Given the description of an element on the screen output the (x, y) to click on. 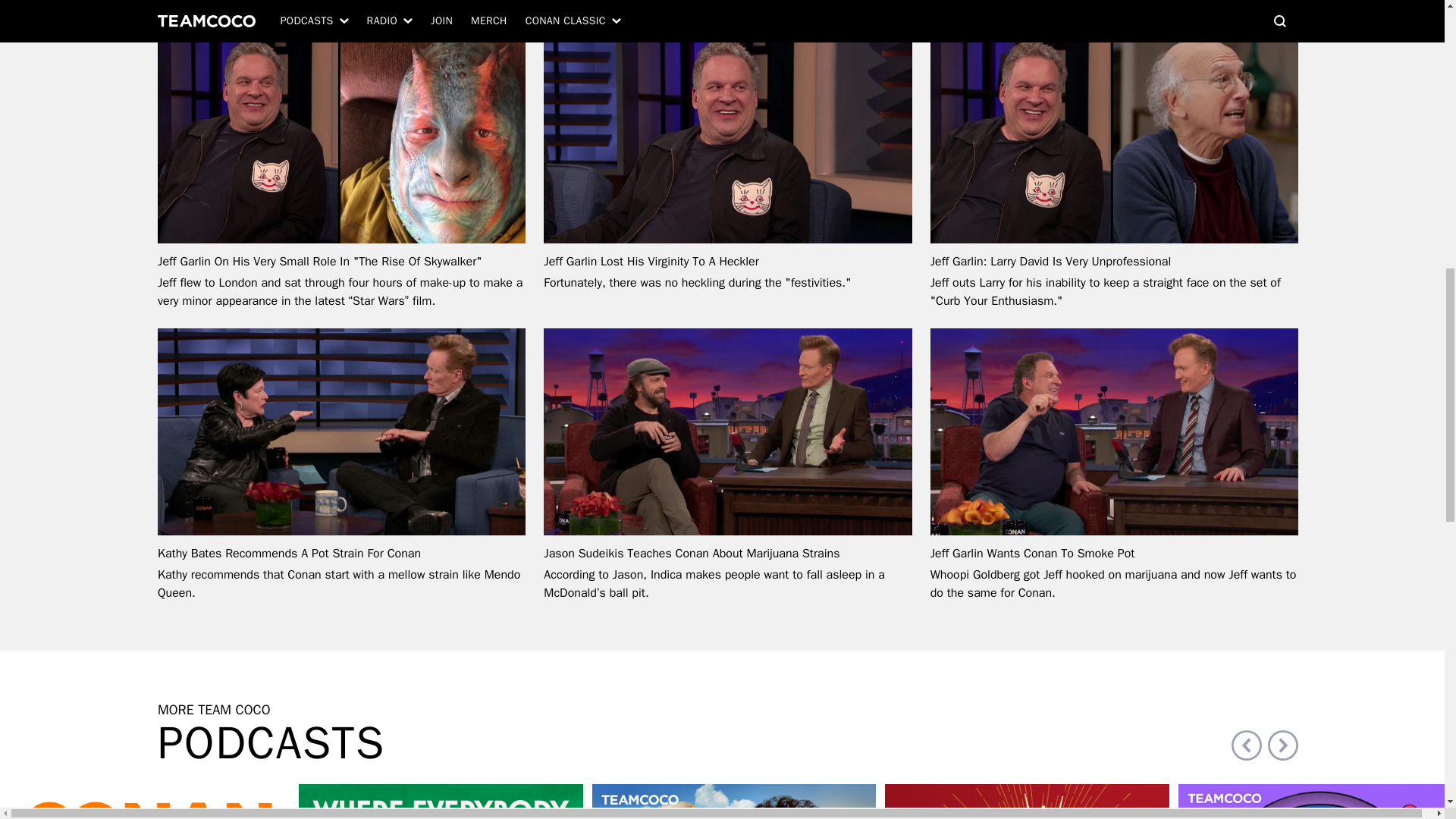
Kathy Bates Recommends A Pot Strain For Conan (341, 553)
Fortunately, there was no heckling during the "festivities." (696, 282)
Jeff Garlin Lost His Virginity To A Heckler (727, 261)
Jason Sudeikis Teaches Conan About Marijuana Strains (727, 553)
Jeff Garlin: Larry David Is Very Unprofessional (1114, 261)
